Given the description of an element on the screen output the (x, y) to click on. 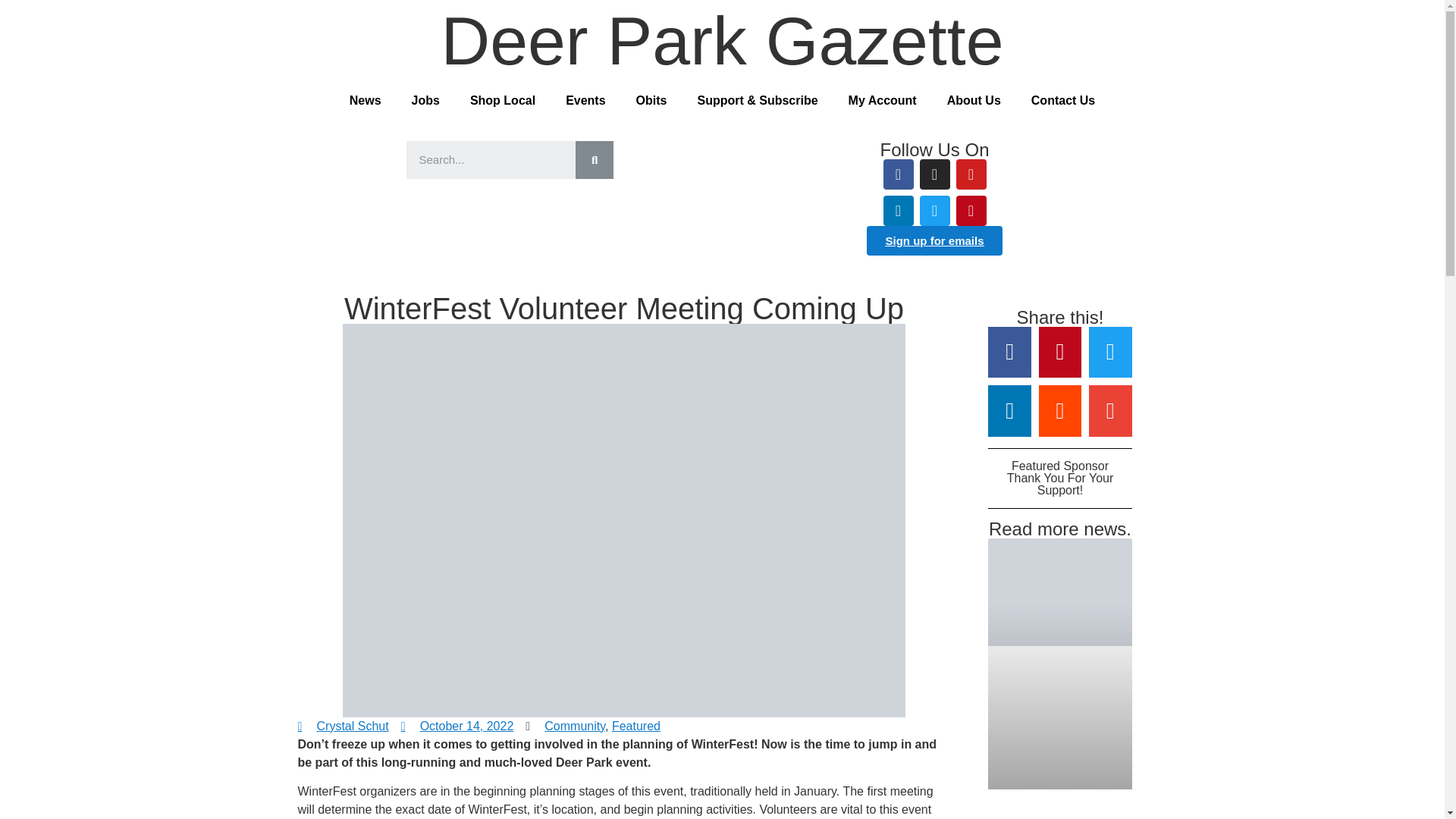
About Us (973, 100)
Shop Local (502, 100)
Contact Us (1062, 100)
My Account (881, 100)
Jobs (425, 100)
Events (585, 100)
Obits (651, 100)
News (365, 100)
